Given the description of an element on the screen output the (x, y) to click on. 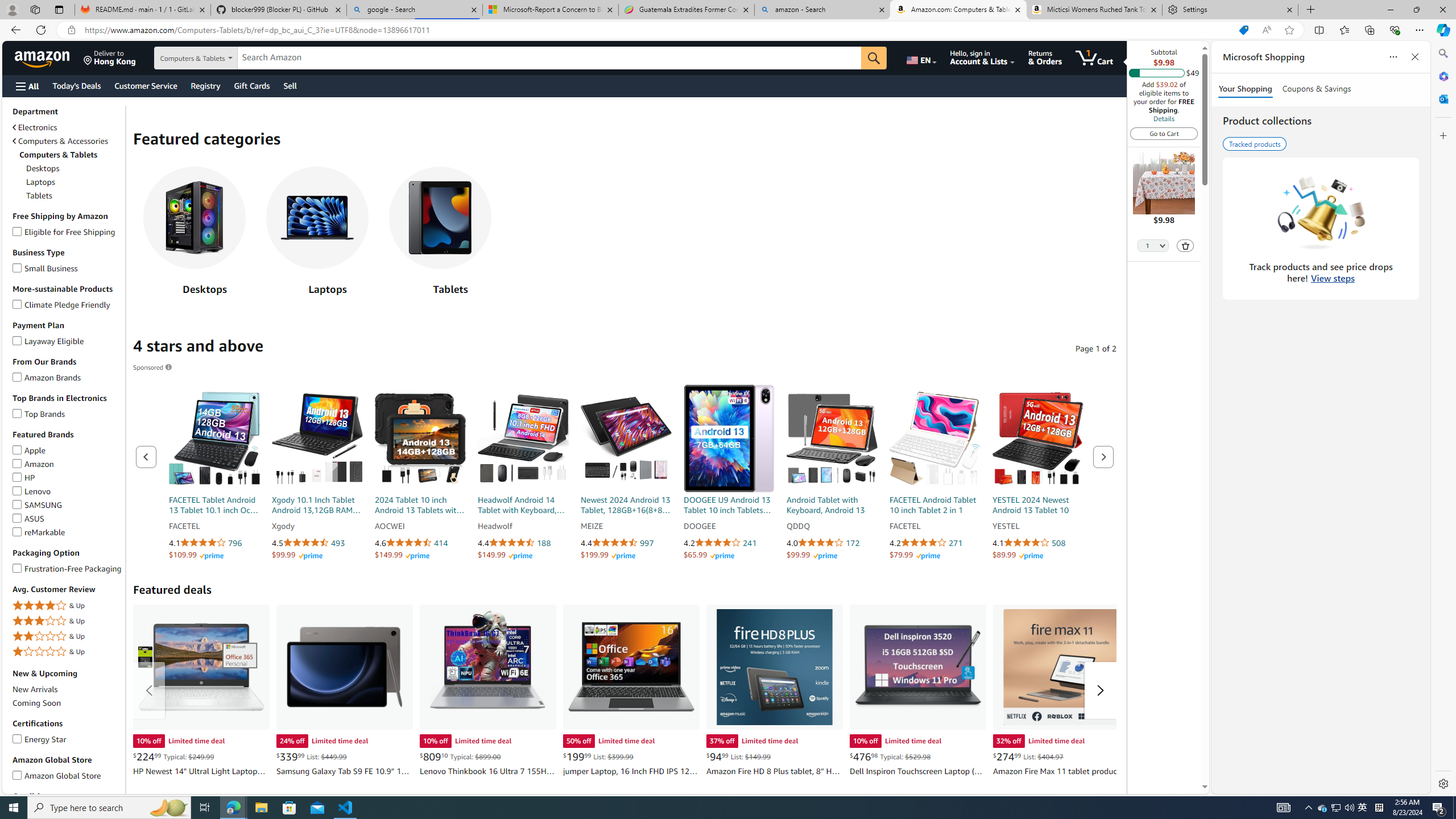
Tablets (440, 217)
$89.99 Amazon Prime (1017, 554)
Top Brands Top Brands (39, 413)
Leave feedback on Sponsored ad (152, 367)
Frustration-Free Packaging Frustration-Free Packaging (67, 567)
$79.99 Amazon Prime (914, 554)
Quantity Selector (1153, 245)
Amazon BrandsAmazon Brands (67, 377)
1 item in cart (1094, 57)
ASUSASUS (67, 518)
